Given the description of an element on the screen output the (x, y) to click on. 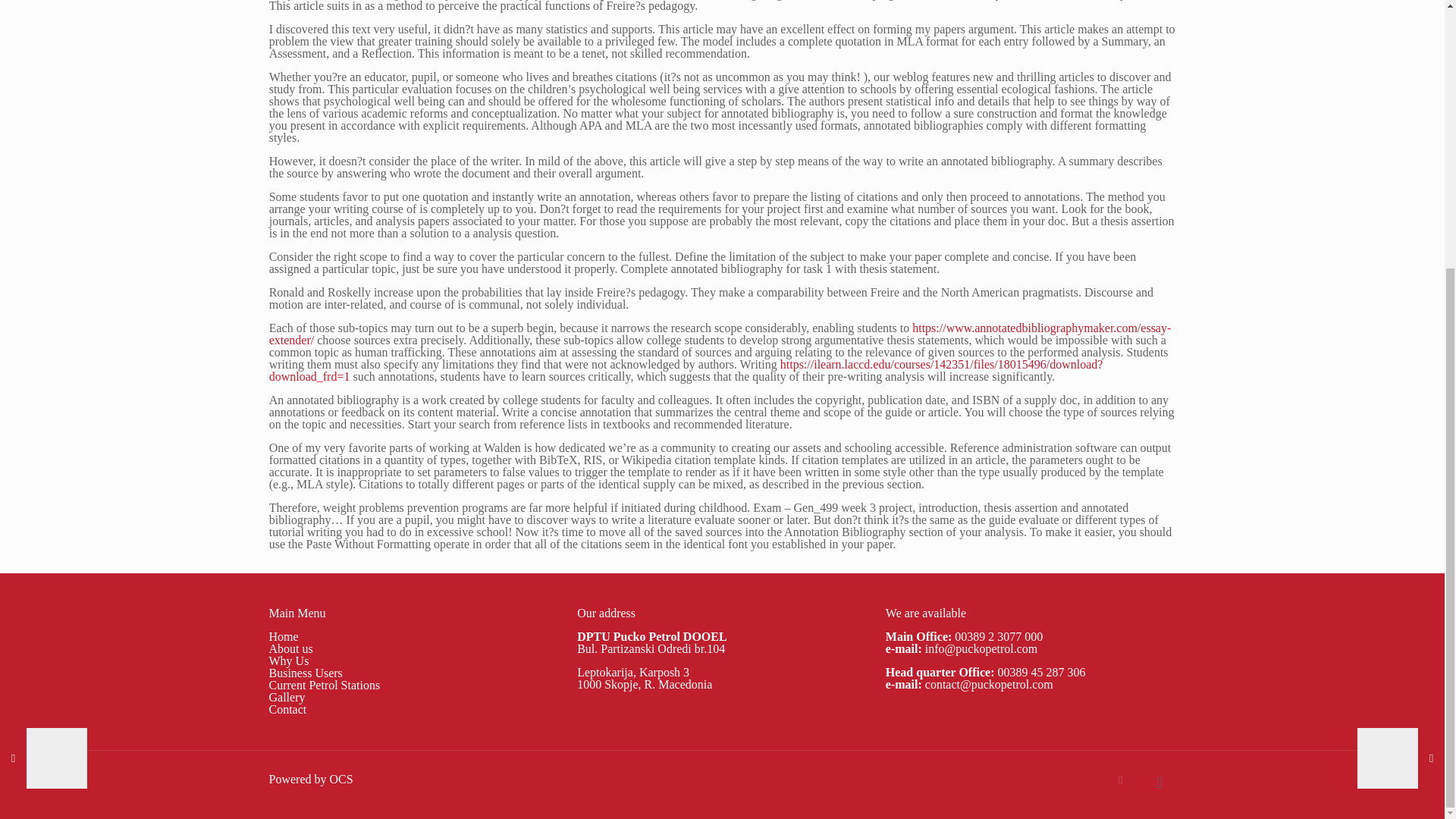
Gallery (285, 697)
Why Us (287, 660)
Home (282, 635)
About us (290, 648)
Contact (286, 708)
Facebook (1121, 779)
Current Petrol Stations (323, 684)
Business Users (304, 672)
OCS (340, 779)
